Given the description of an element on the screen output the (x, y) to click on. 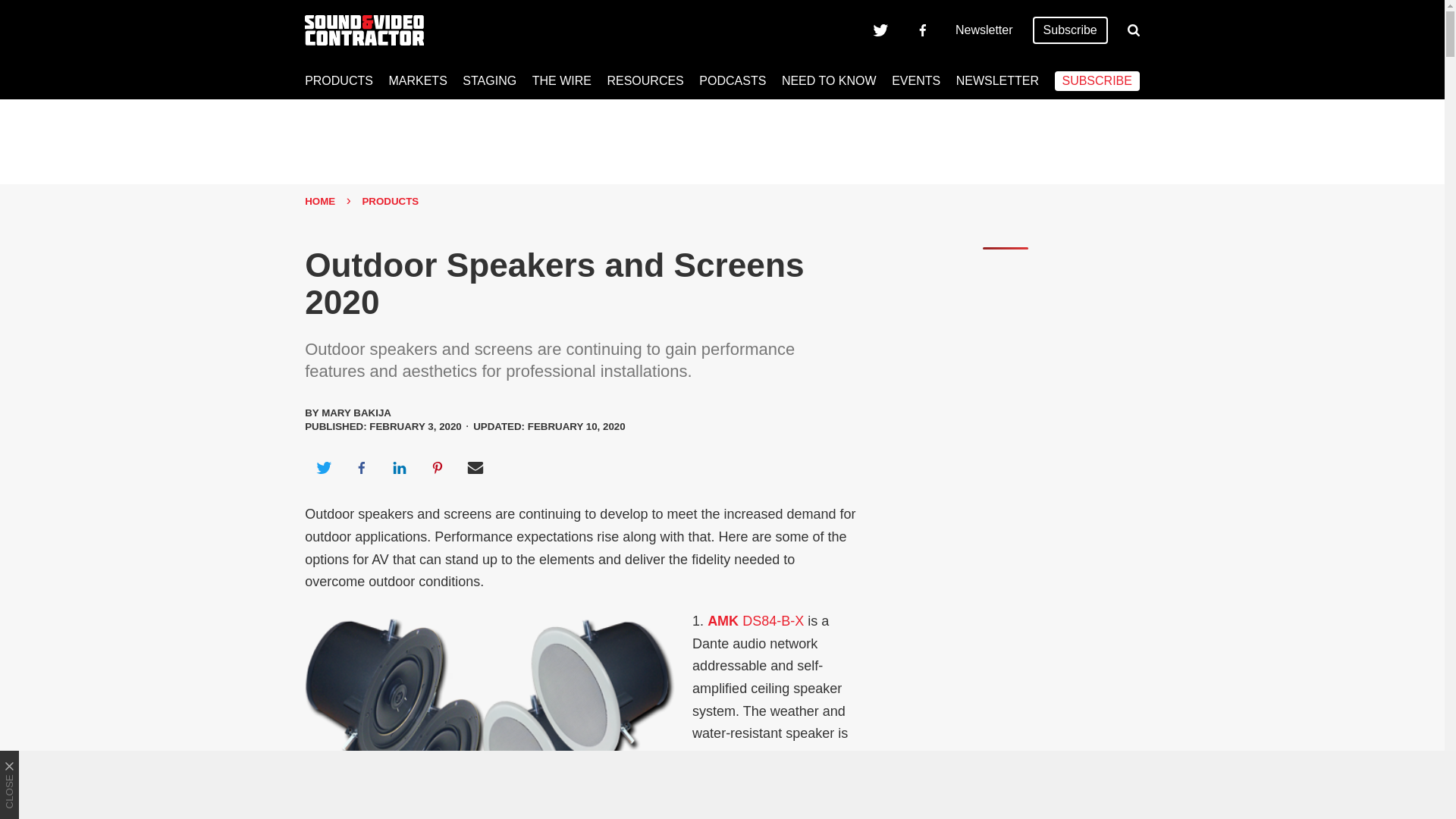
Share on Facebook (361, 467)
Share on LinkedIn (399, 467)
Share on Pinterest (438, 467)
Share on Twitter (323, 467)
Share via Email (476, 467)
